Given the description of an element on the screen output the (x, y) to click on. 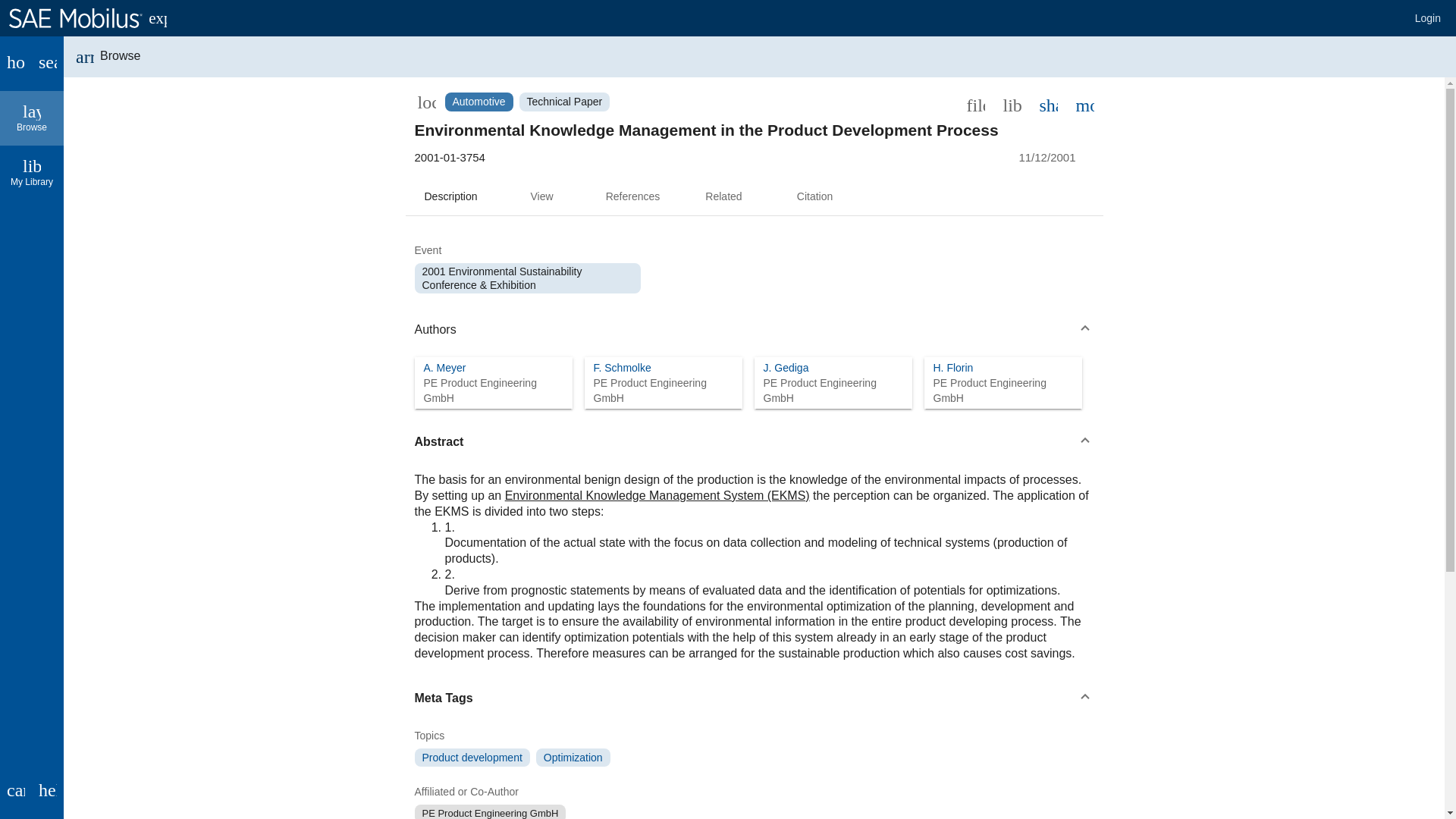
References (632, 197)
Automotive (478, 101)
PE Product Engineering GmbH (662, 390)
F. Schmolke (621, 367)
lock (425, 101)
J. Gediga (785, 367)
PE Product Engineering GmbH (832, 390)
Product development (471, 757)
Technical Paper (564, 101)
Citation (814, 197)
